Given the description of an element on the screen output the (x, y) to click on. 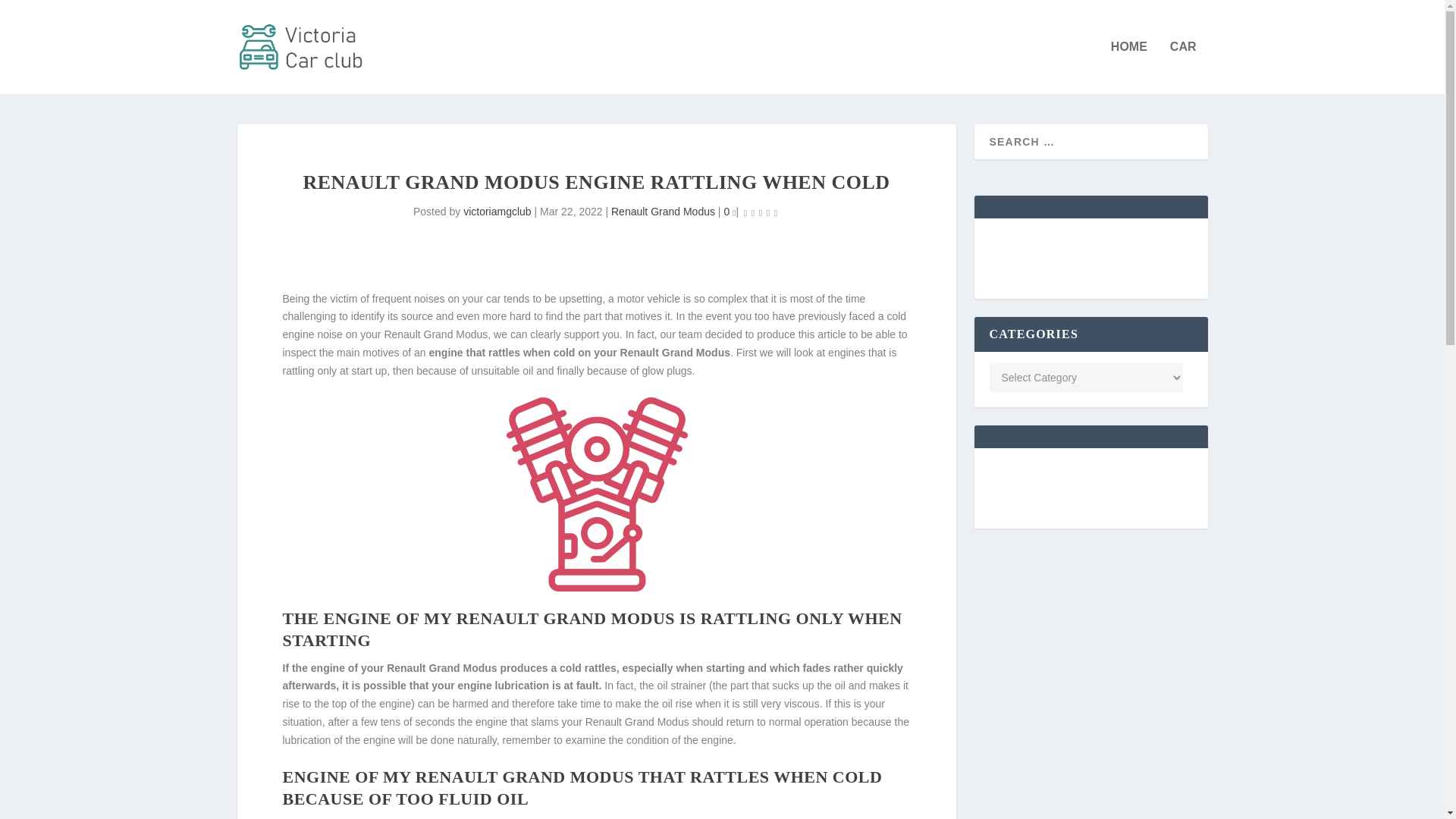
victoriamgclub (497, 211)
Posts by victoriamgclub (497, 211)
0 (729, 211)
Search (31, 13)
Rating: 0.00 (759, 212)
Renault Grand Modus (662, 211)
